Given the description of an element on the screen output the (x, y) to click on. 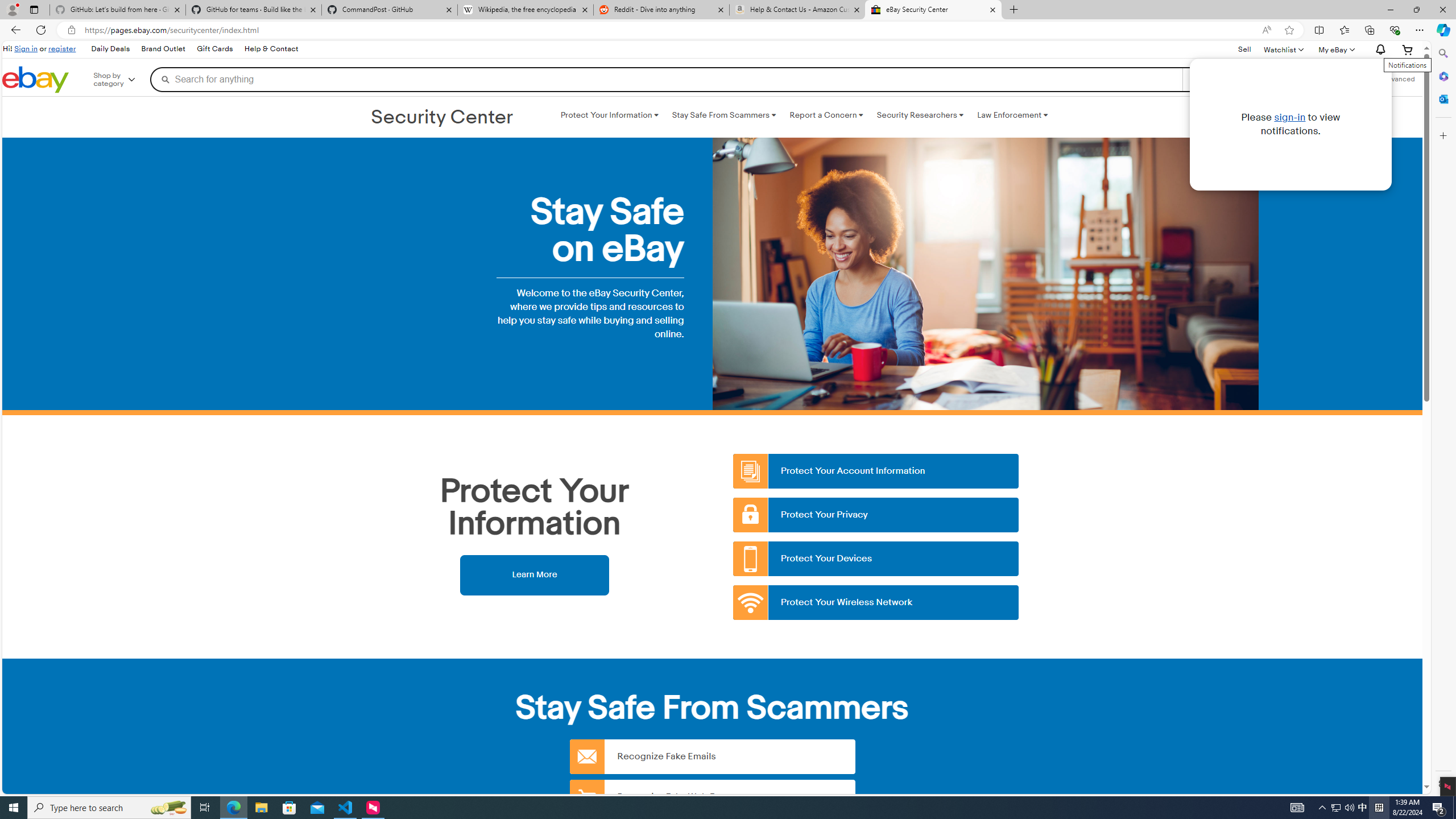
Address and search bar (669, 29)
Your shopping cart (1407, 49)
Close Outlook pane (1442, 98)
Stay Safe From Scammers  (723, 115)
Customize (1442, 135)
Help & Contact (271, 49)
